Given the description of an element on the screen output the (x, y) to click on. 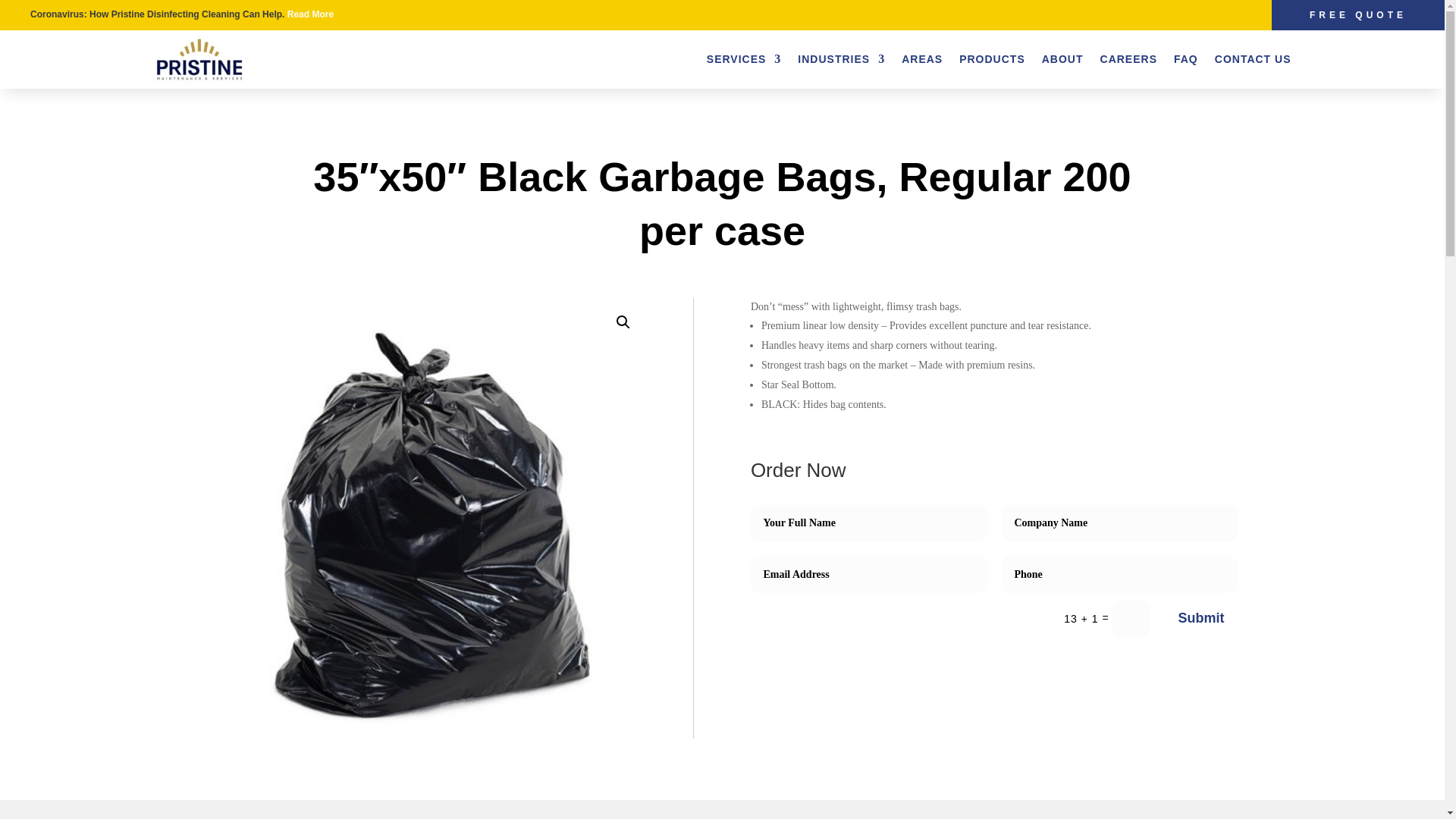
CONTACT US (1252, 58)
CAREERS (1128, 58)
Read More (309, 14)
INDUSTRIES (841, 58)
SERVICES (743, 58)
Only numbers allowed. (1119, 574)
PRODUCTS (992, 58)
